Given the description of an element on the screen output the (x, y) to click on. 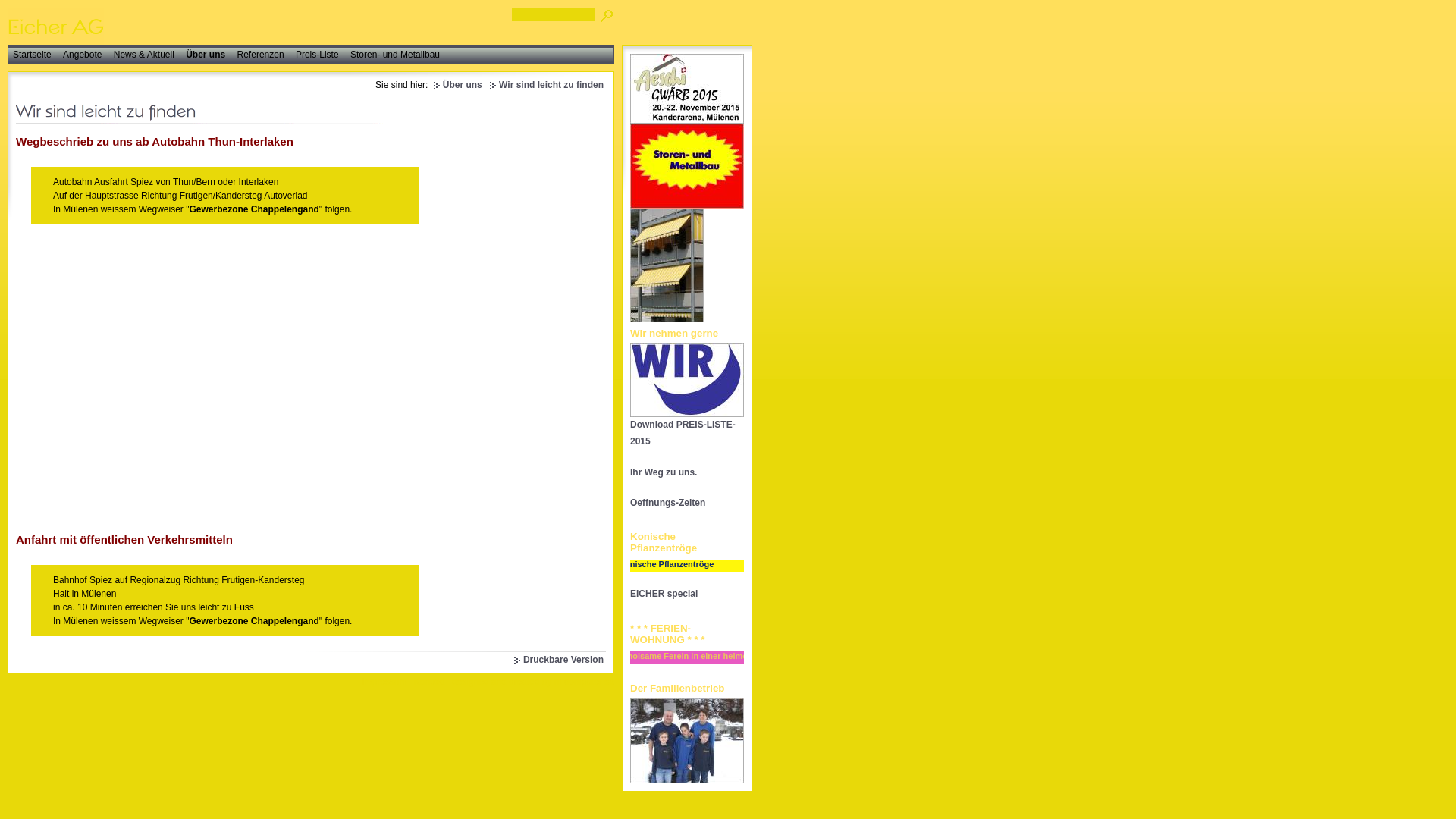
Startseite Element type: text (32, 54)
Preis-Liste Element type: text (317, 54)
Oeffnungs-Zeiten Element type: text (667, 502)
Referenzen Element type: text (260, 54)
Angebote Element type: text (82, 54)
designed and created by m computer sa Element type: text (530, 681)
Kontakt Element type: text (427, 681)
Ihr Weg zu uns. Element type: text (663, 472)
Wir sind leicht zu finden Element type: text (545, 84)
Druckbare Version Element type: text (558, 659)
EICHER special Element type: text (663, 593)
News & Aktuell Element type: text (143, 54)
Impressum Element type: text (381, 681)
Download PREIS-LISTE-2015 Element type: text (682, 432)
Storen- und Metallbau Element type: text (394, 54)
